Given the description of an element on the screen output the (x, y) to click on. 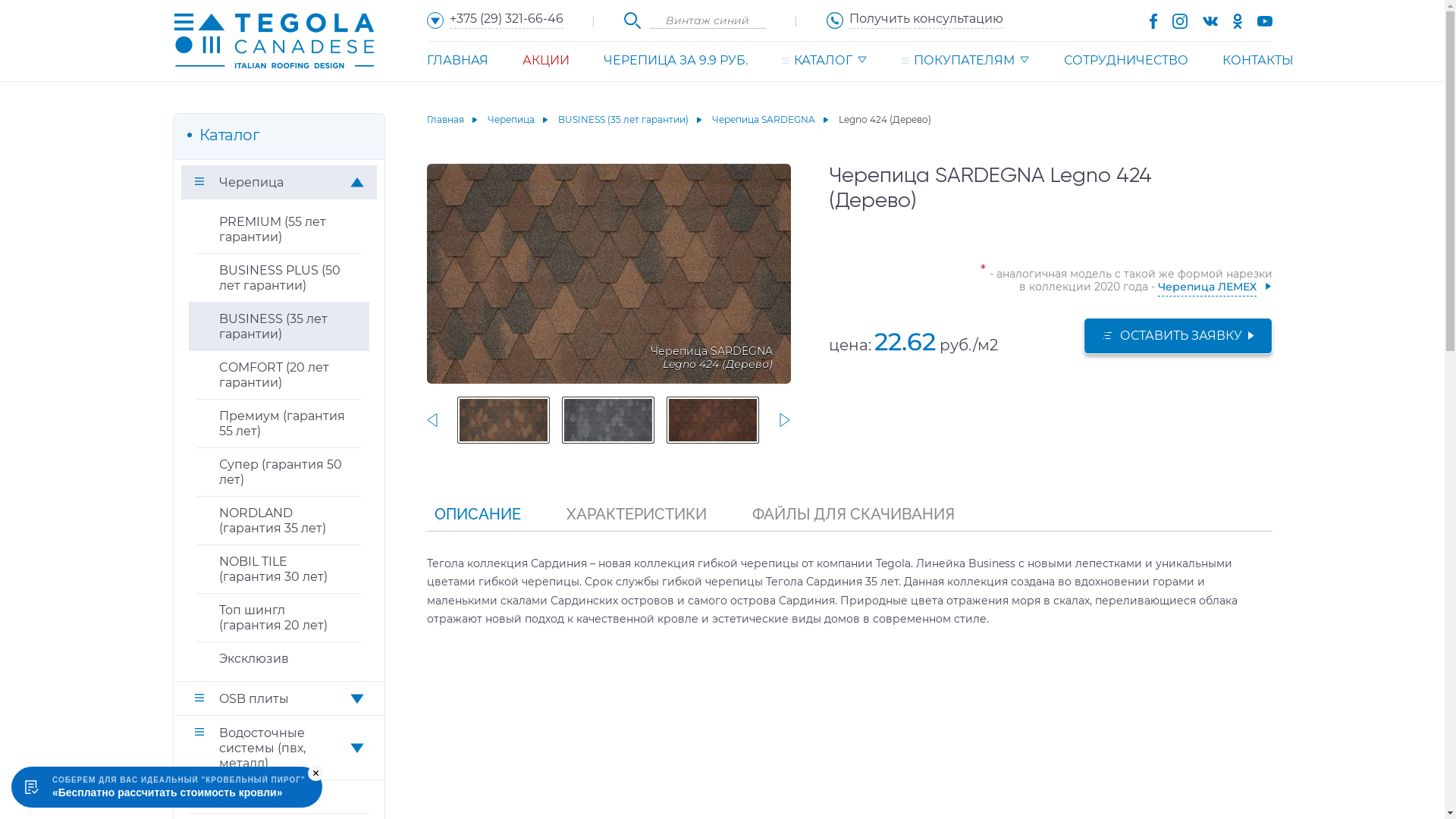
+375 (29) 321-66-46 Element type: text (494, 19)
